Given the description of an element on the screen output the (x, y) to click on. 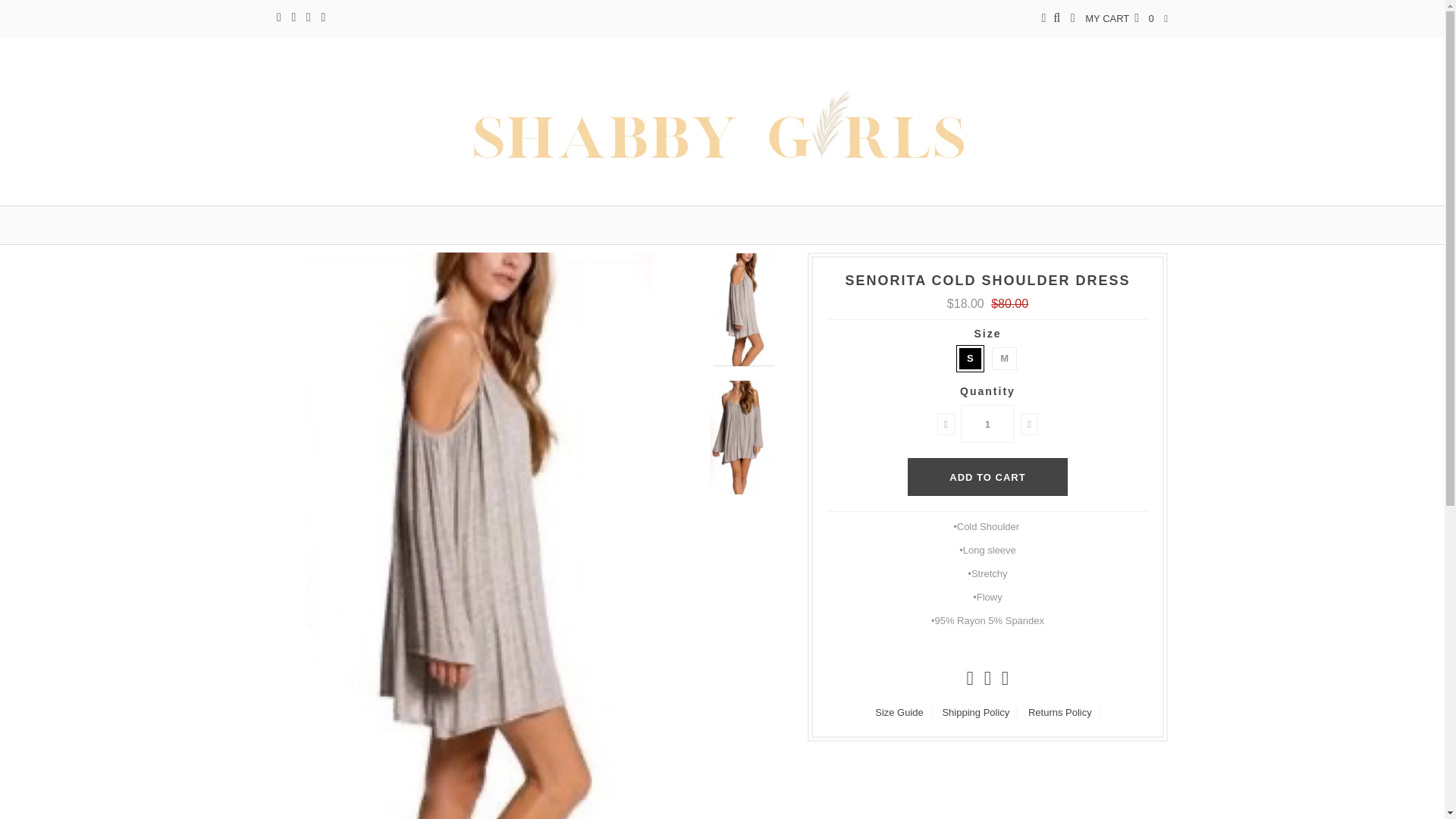
Add to Cart (987, 476)
MY CART    0 (1118, 18)
1 (986, 423)
